Given the description of an element on the screen output the (x, y) to click on. 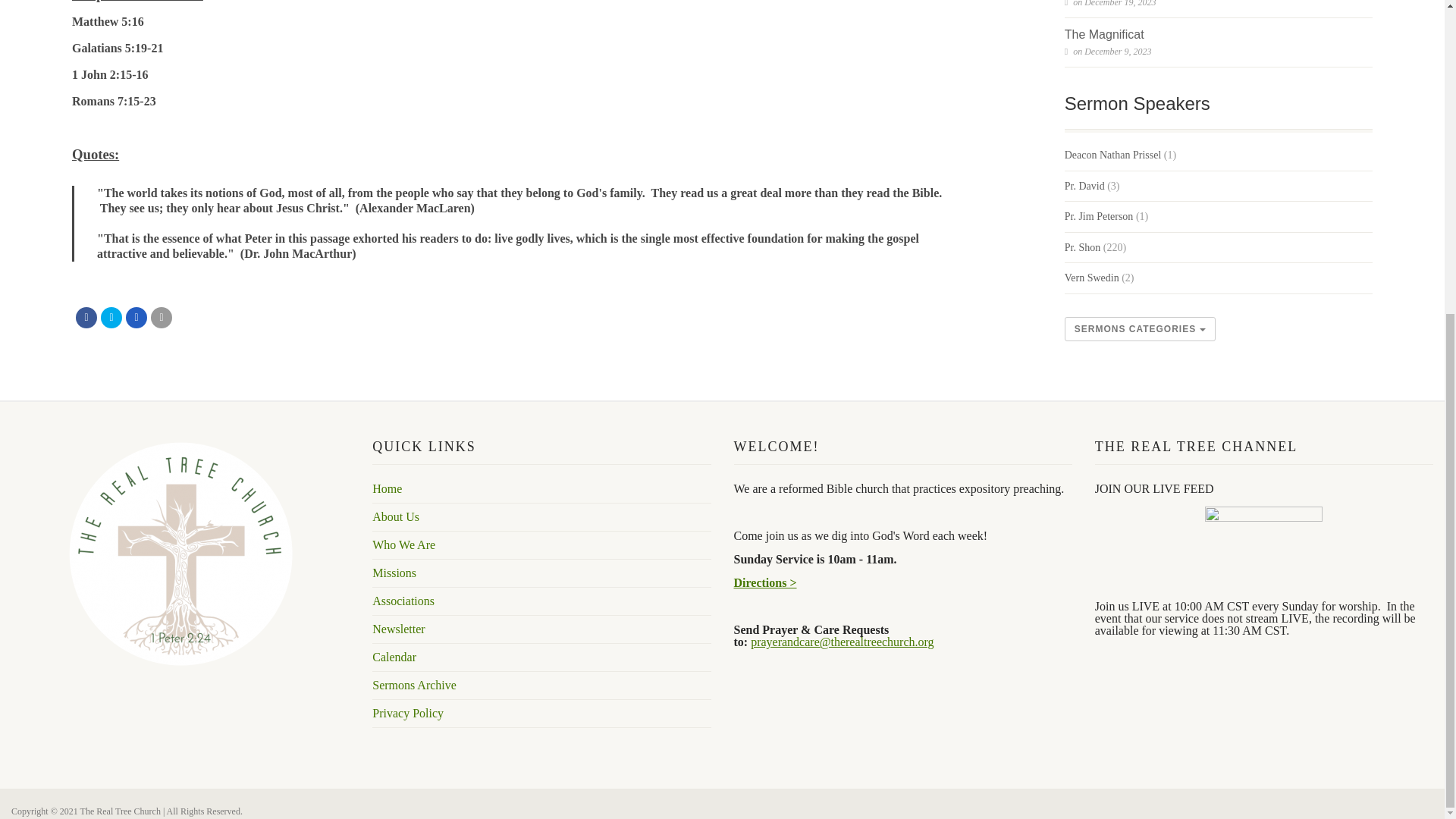
Email (161, 317)
SERMONS CATEGORIES (1139, 328)
The Magnificat (1104, 34)
Share on Facebook (86, 317)
Pr. David (1084, 186)
2:7:21 Footer Logo (180, 553)
Vern Swedin (1091, 278)
Pr. Jim Peterson (1099, 216)
Pr. Shon (1082, 247)
Tweet (111, 317)
